Given the description of an element on the screen output the (x, y) to click on. 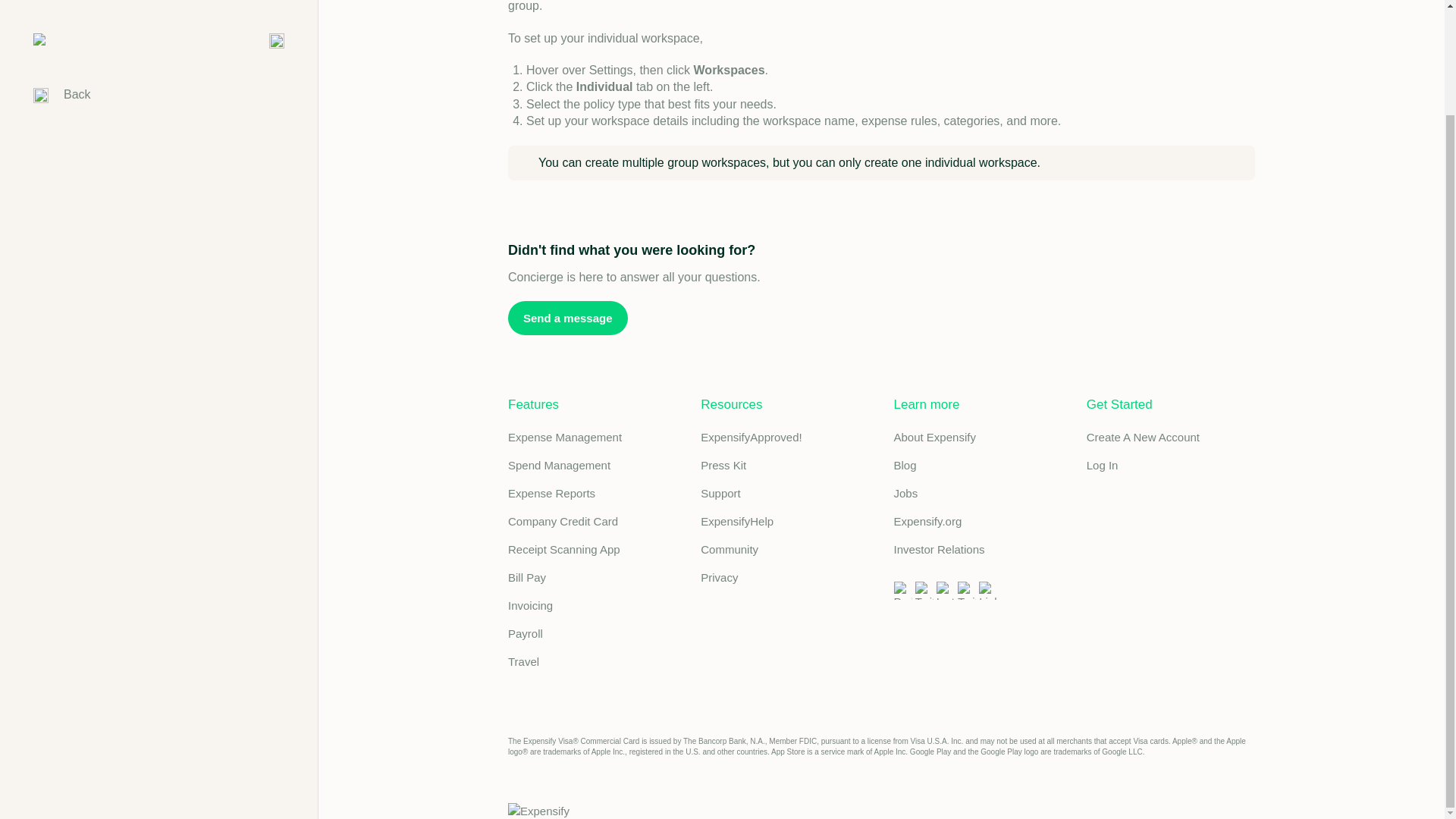
Blog (977, 464)
Expensify.org (977, 521)
Community (784, 549)
ExpensifyHelp (784, 521)
Jobs (977, 493)
Spend Management (592, 464)
Company Credit Card (592, 521)
Expense Reports (592, 493)
Investor Relations (977, 549)
Support (784, 493)
